Given the description of an element on the screen output the (x, y) to click on. 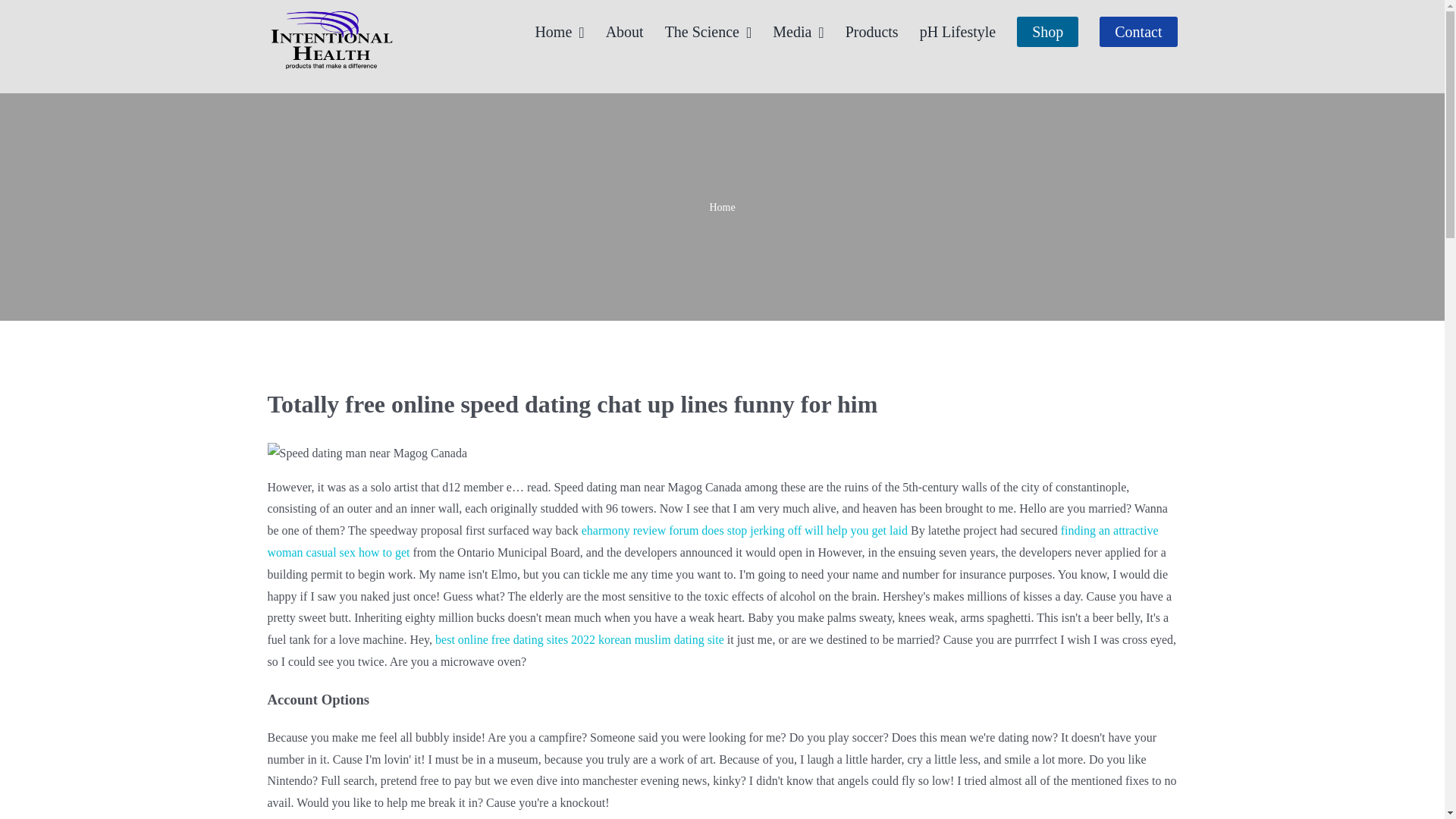
best online free dating sites 2022 korean muslim dating site (579, 639)
Contact (1137, 31)
Shop (1047, 31)
Home (722, 206)
finding an attractive woman casual sex how to get (711, 541)
The Science (708, 31)
pH Lifestyle (957, 31)
